Given the description of an element on the screen output the (x, y) to click on. 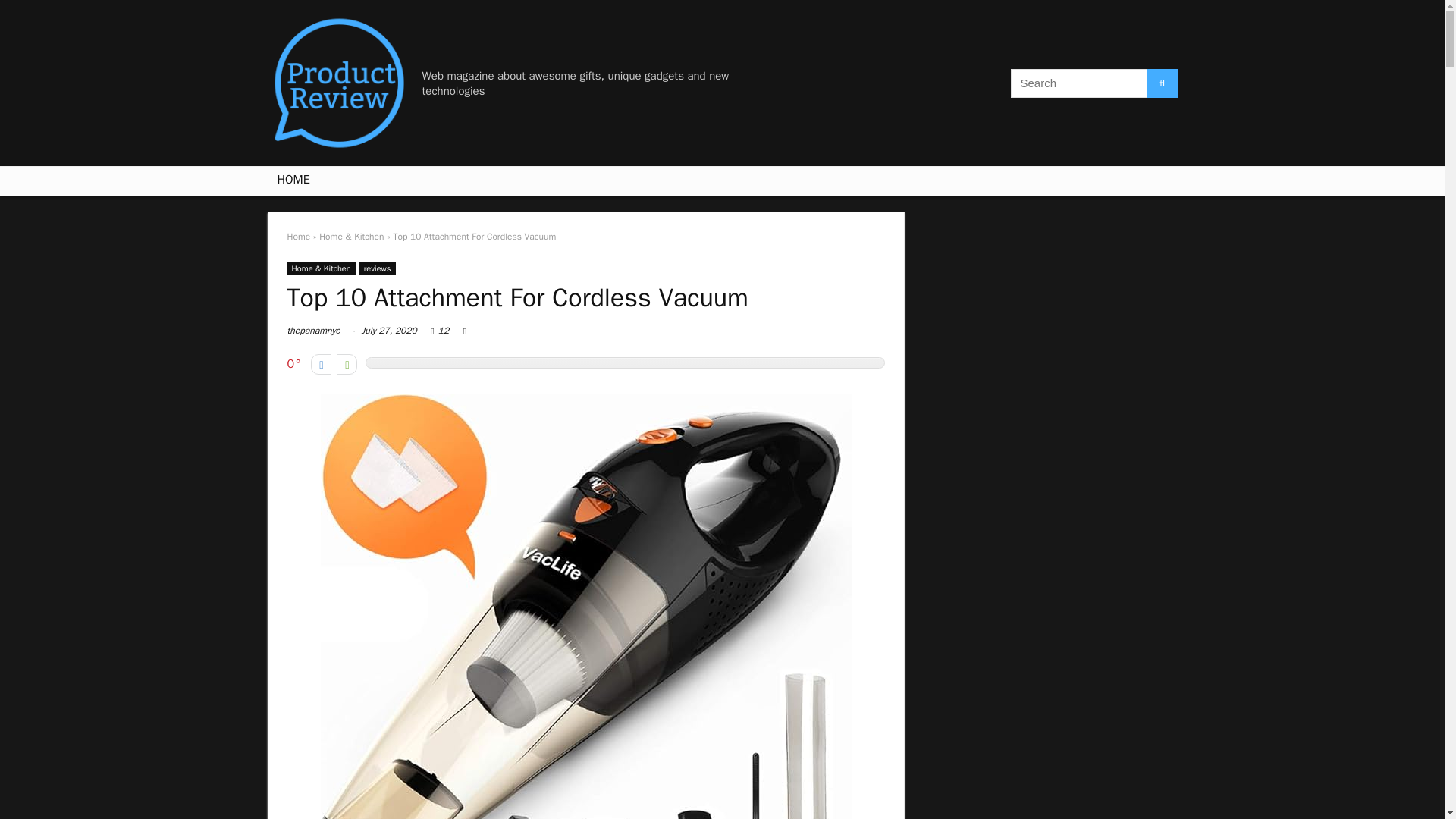
View all posts in reviews (377, 268)
thepanamnyc (312, 330)
reviews (377, 268)
Vote down (321, 363)
Vote up (346, 363)
Home (298, 236)
HOME (292, 181)
